Given the description of an element on the screen output the (x, y) to click on. 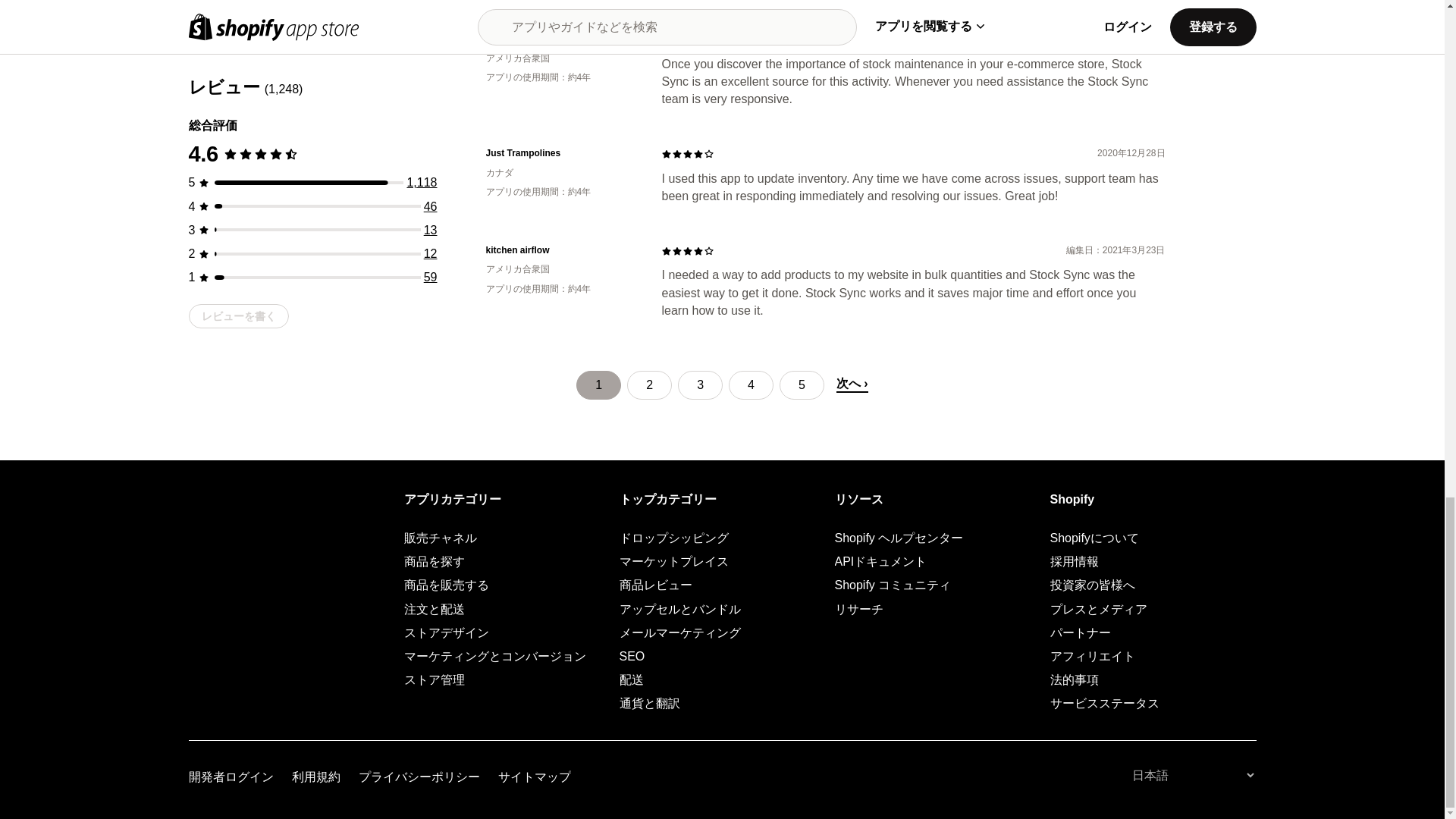
Larojewelers (560, 38)
kitchen airflow (560, 250)
Just Trampolines (560, 153)
